Given the description of an element on the screen output the (x, y) to click on. 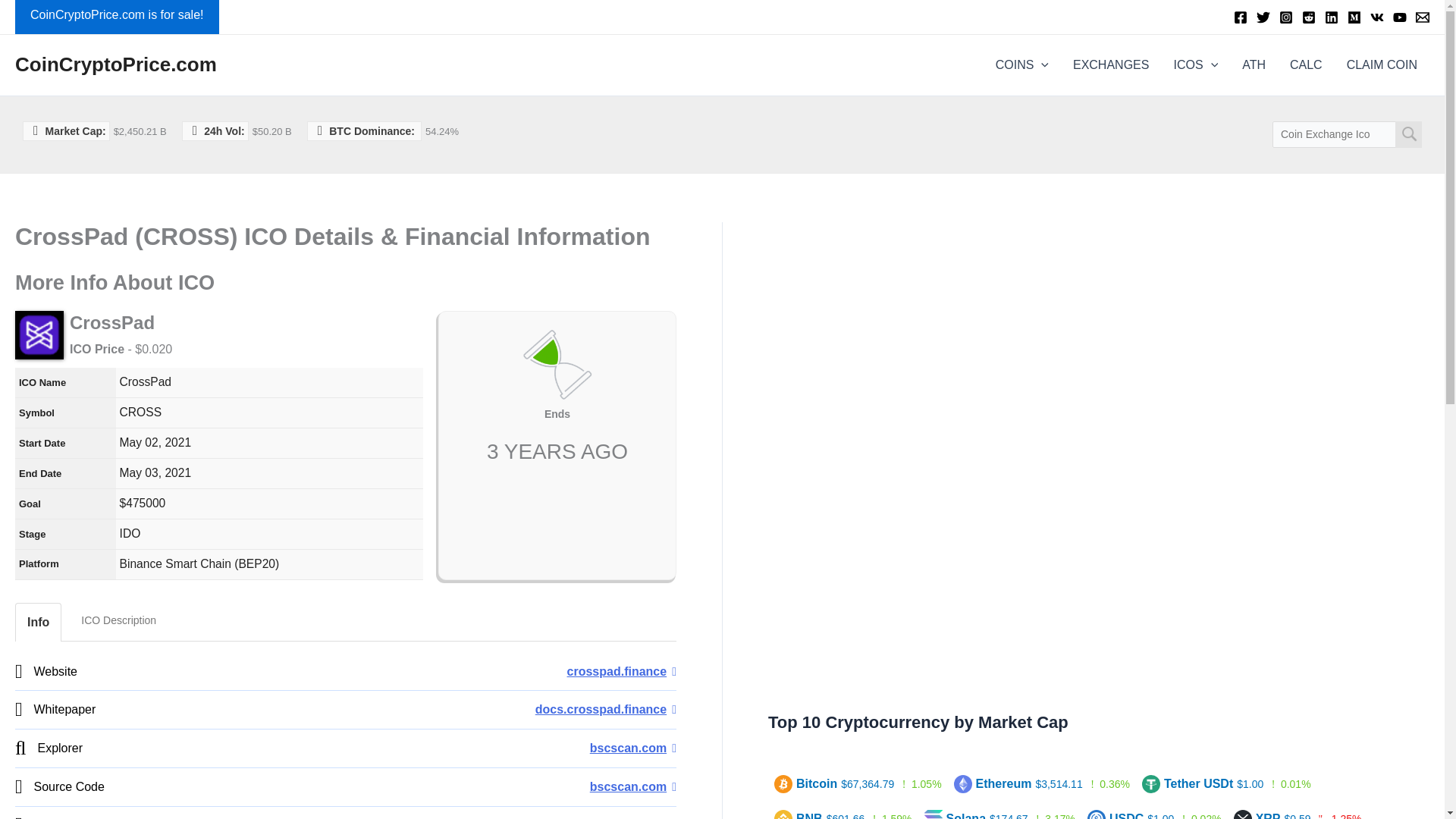
Ethereum (994, 783)
COINS (1022, 65)
Tether USDt (1188, 783)
Bitcoin (807, 783)
Whitepaper (606, 708)
EXCHANGES (1110, 65)
CLAIM COIN (1382, 65)
Website (622, 671)
Explorer (633, 748)
CoinCryptoPrice.com is for sale! (116, 17)
CoinCryptoPrice.com (115, 64)
Source Code (633, 786)
CALC (1306, 65)
ICOS (1195, 65)
BNB (800, 815)
